Given the description of an element on the screen output the (x, y) to click on. 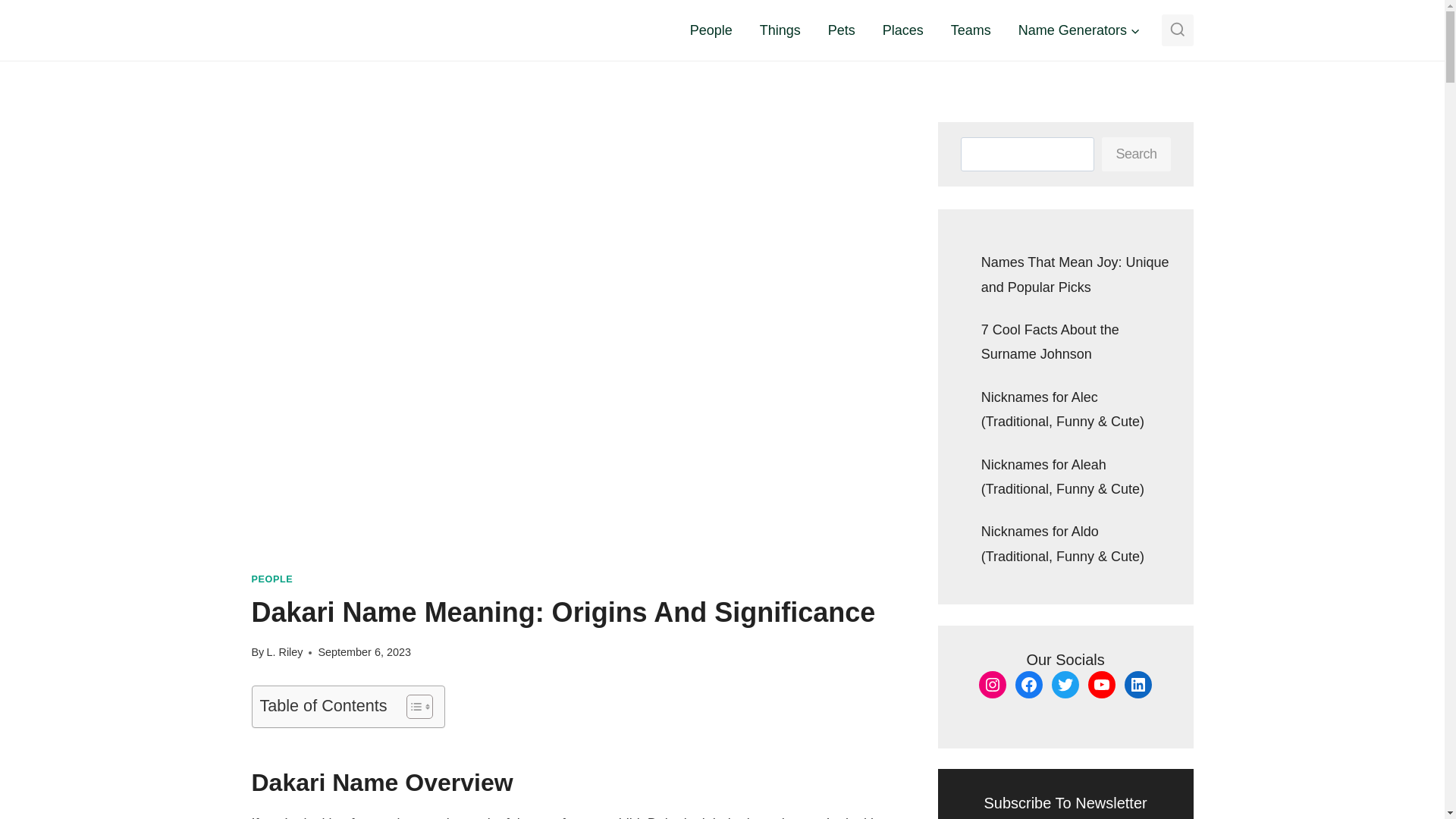
Things (779, 30)
Teams (970, 30)
Pets (841, 30)
Name Generators (1079, 30)
L. Riley (284, 652)
PEOPLE (272, 579)
Places (903, 30)
People (711, 30)
